Given the description of an element on the screen output the (x, y) to click on. 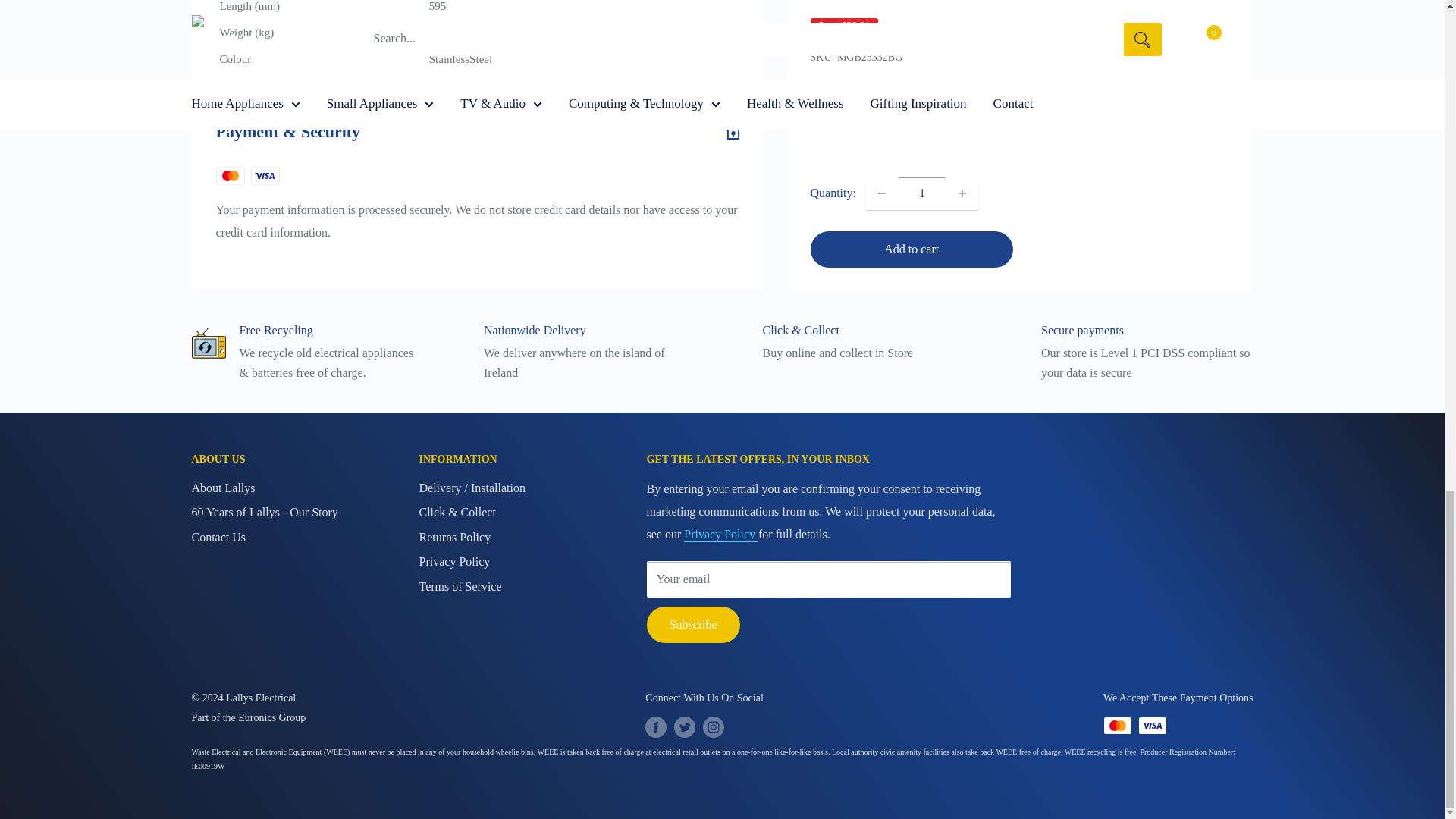
Privacy Policy (721, 533)
